Given the description of an element on the screen output the (x, y) to click on. 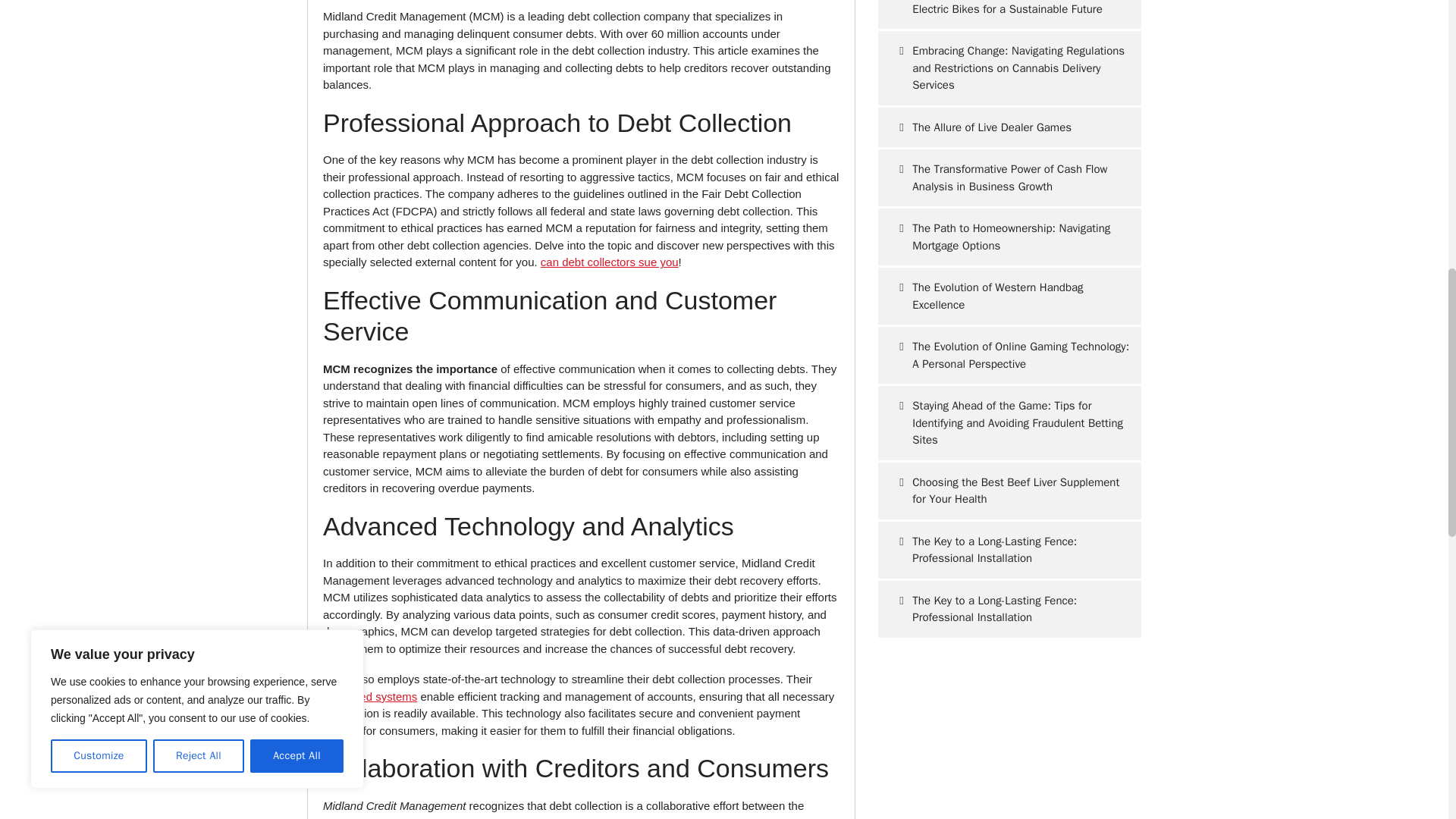
advanced systems (369, 696)
can debt collectors sue you (609, 261)
